Given the description of an element on the screen output the (x, y) to click on. 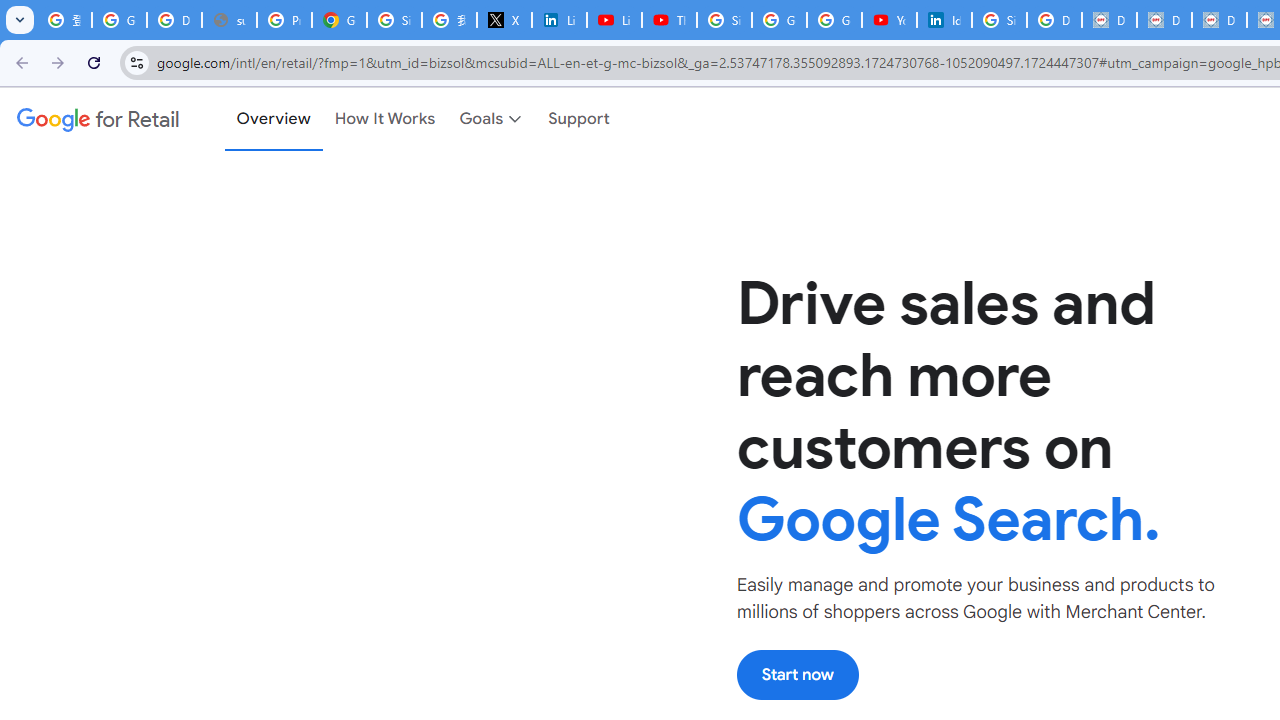
Sign in - Google Accounts (394, 20)
Data Privacy Framework (1218, 20)
Goals (491, 119)
Google for Retail (98, 119)
LinkedIn Privacy Policy (559, 20)
